Given the description of an element on the screen output the (x, y) to click on. 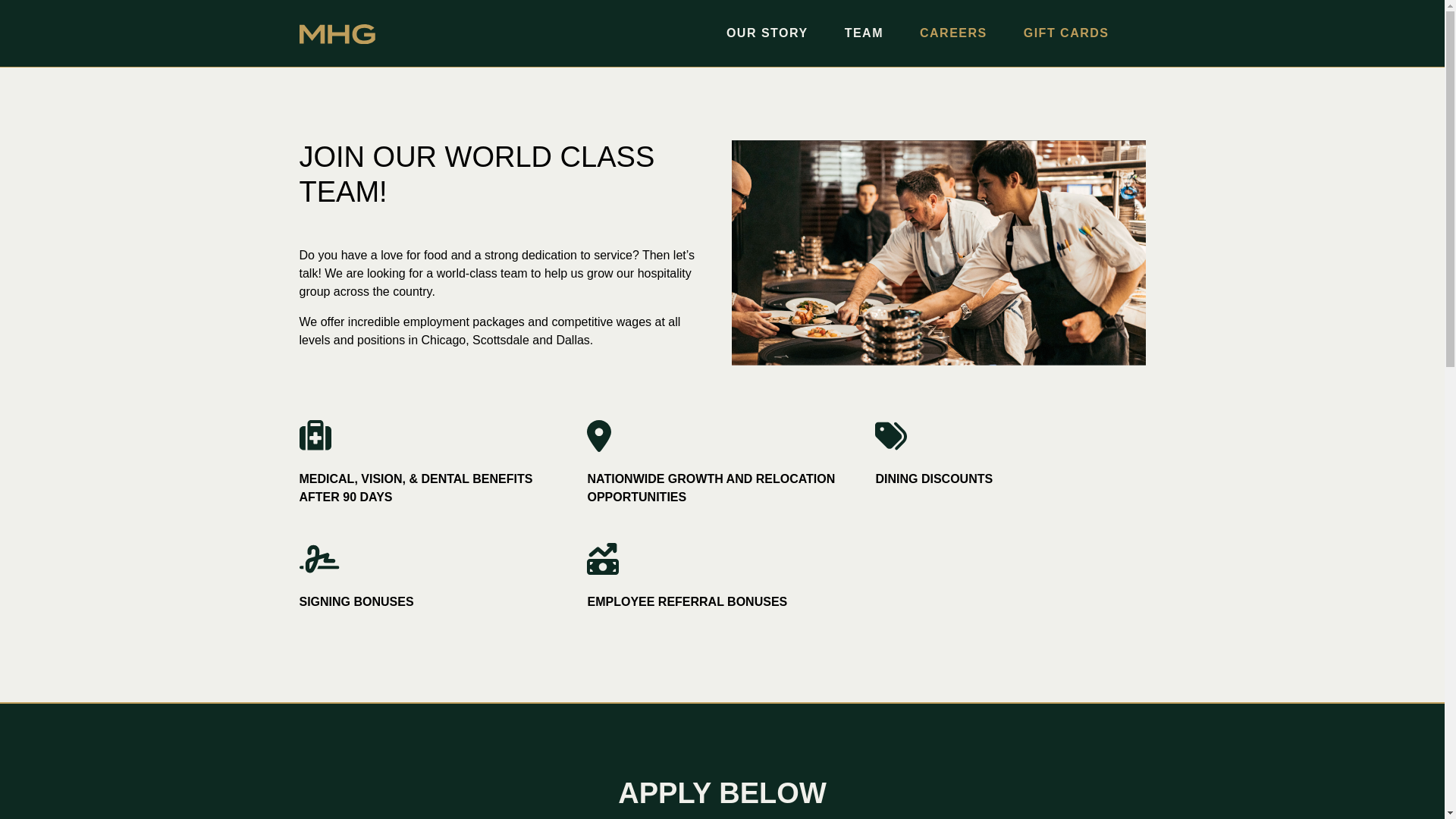
TEAM (864, 33)
GIFT CARDS (1066, 33)
CAREERS (953, 33)
OUR STORY (767, 33)
